Given the description of an element on the screen output the (x, y) to click on. 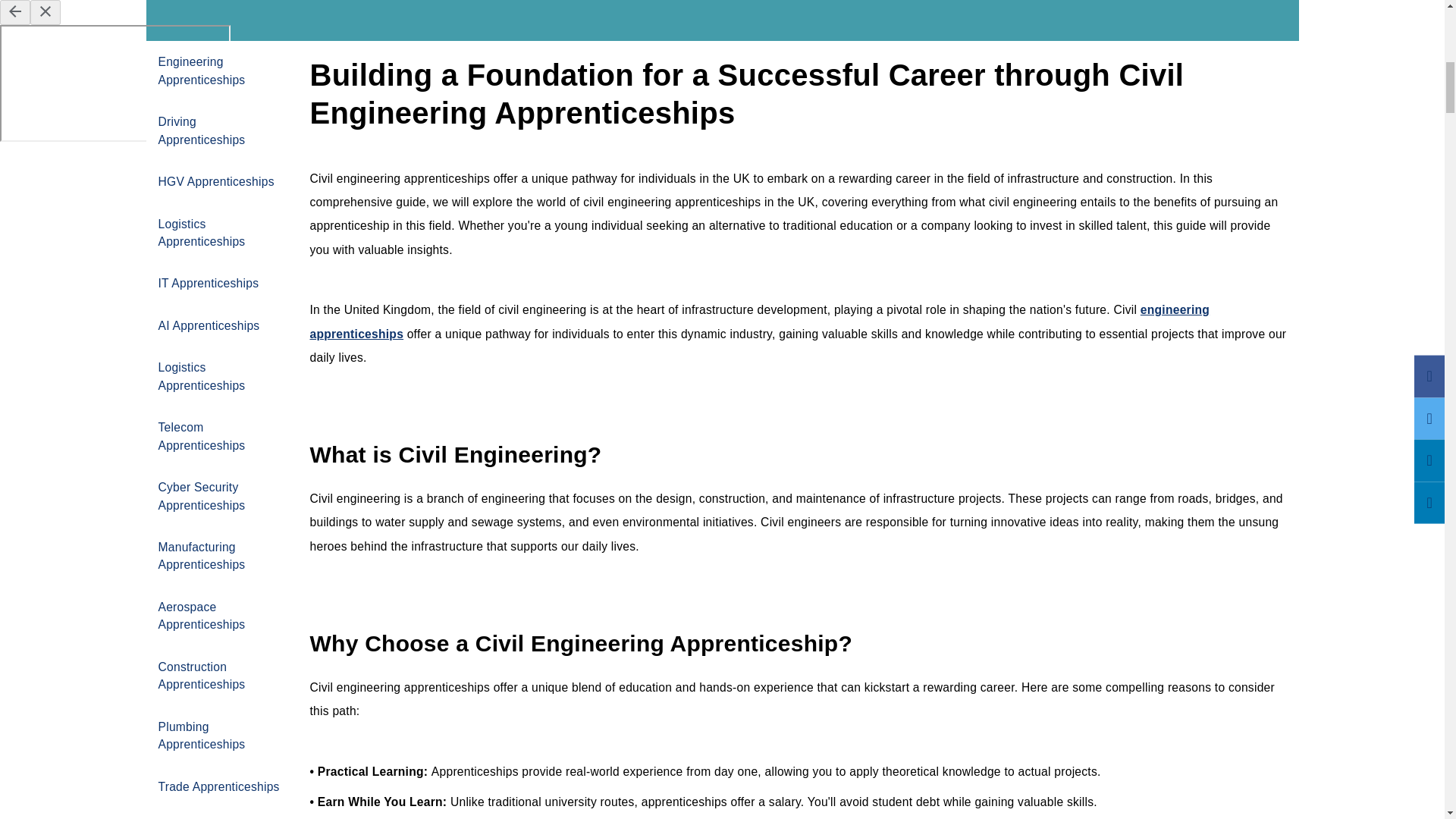
Aerospace Apprenticeships (221, 616)
AI Apprenticeships (221, 325)
Plumbing Apprenticeships (221, 735)
Engineering Apprenticeships (758, 321)
HGV Apprenticeships (221, 181)
Cyber Security Apprenticeships (221, 496)
Construction Apprenticeships (221, 675)
Manufacturing Apprenticeships (221, 556)
Trade Apprenticeships (221, 786)
Logistics Apprenticeships (221, 232)
